Given the description of an element on the screen output the (x, y) to click on. 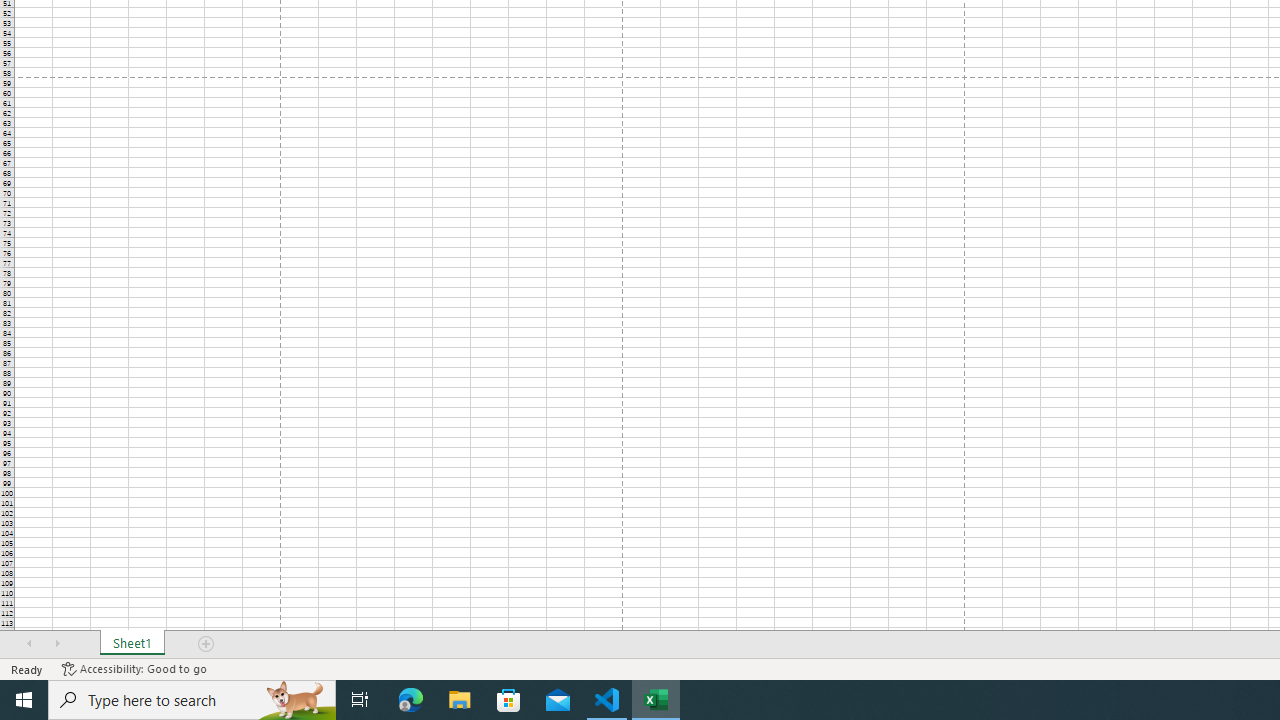
Accessibility Checker Accessibility: Good to go (134, 668)
Scroll Left (29, 644)
Scroll Right (57, 644)
Sheet1 (132, 644)
Add Sheet (207, 644)
